Given the description of an element on the screen output the (x, y) to click on. 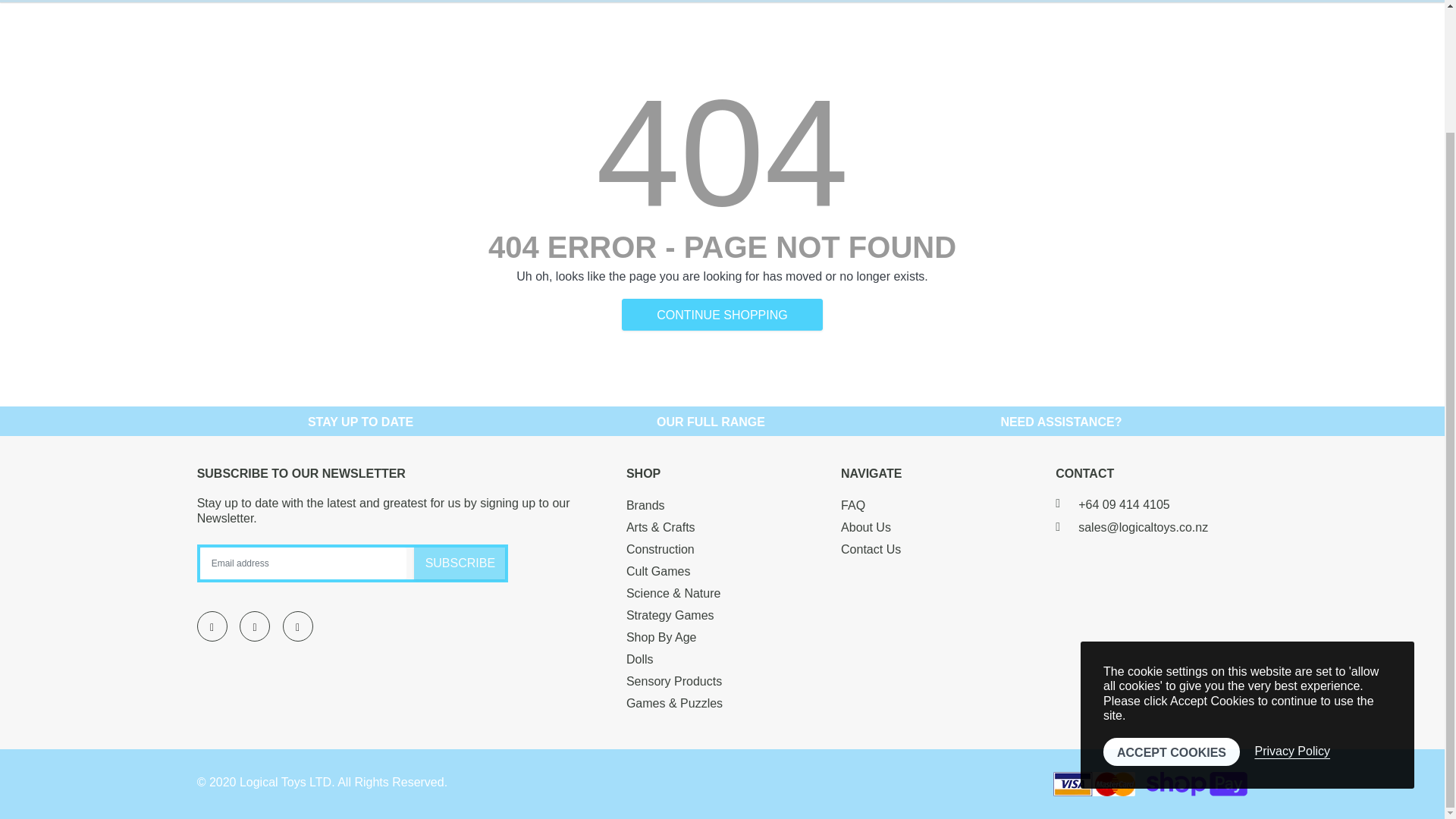
Facebook (211, 625)
Instagram (297, 625)
Twitter (254, 625)
Subscribe (459, 563)
